Given the description of an element on the screen output the (x, y) to click on. 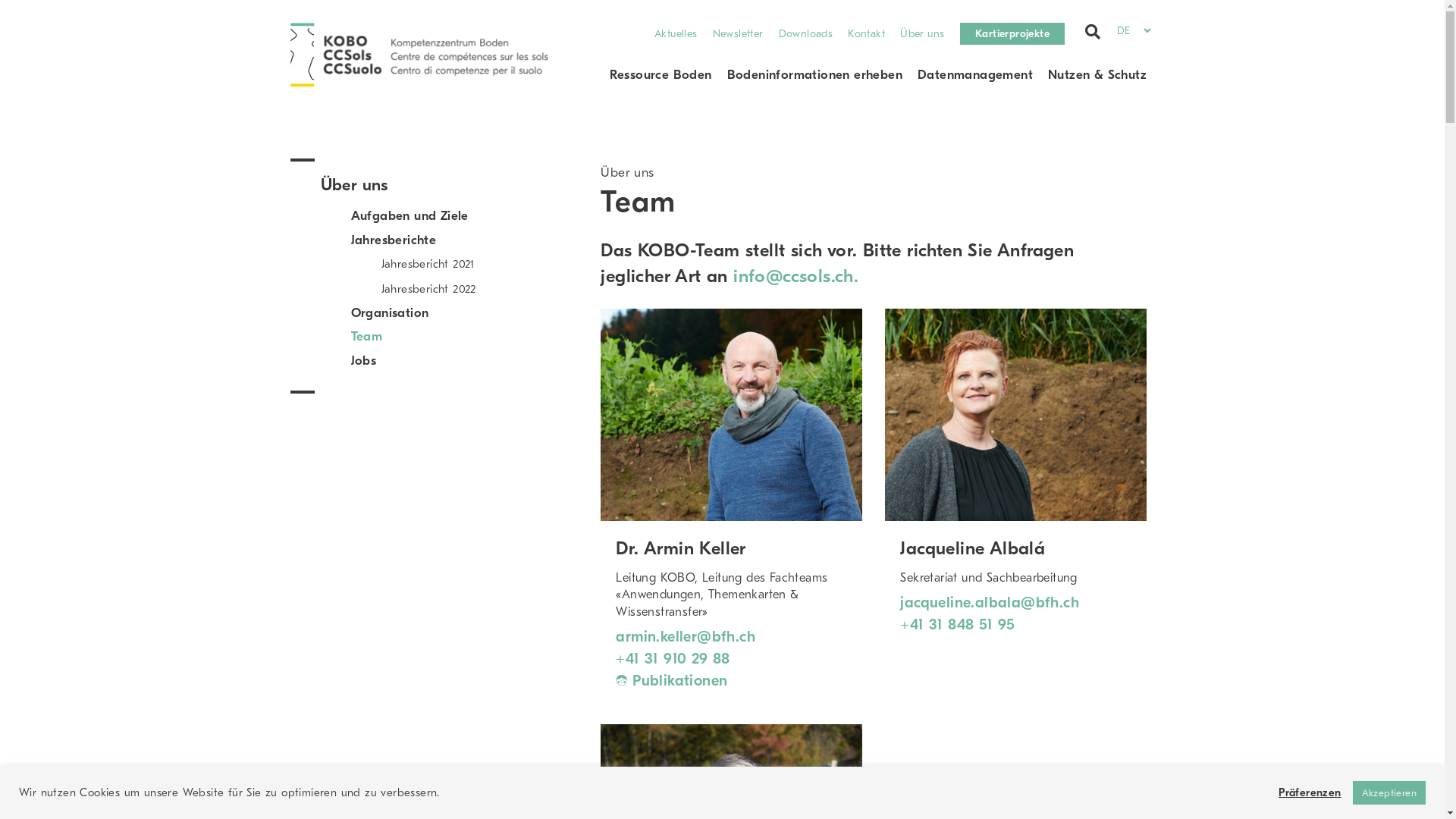
Organisation Element type: text (389, 312)
Nutzen & Schutz Element type: text (1097, 74)
Team Element type: text (366, 336)
jacqueline.albala@bfh.ch Element type: text (989, 602)
Downloads Element type: text (805, 32)
Bodeninformationen erheben Element type: text (814, 74)
+41 31 910 29 88 Element type: text (672, 658)
Datenmanagement Element type: text (975, 74)
Akzeptieren Element type: text (1388, 792)
Ressource Boden Element type: text (660, 74)
info@ccsols.ch. Element type: text (795, 275)
Newsletter Element type: text (737, 32)
Jahresberichte Element type: text (393, 239)
Kontakt Element type: text (865, 32)
Aufgaben und Ziele Element type: text (408, 215)
Aktuelles Element type: text (675, 32)
Jahresbericht 2021 Element type: text (426, 263)
armin.keller@bfh.ch Element type: text (685, 636)
Kartierprojekte Element type: text (1012, 33)
Jobs Element type: text (363, 360)
Jahresbericht 2022 Element type: text (427, 288)
